Given the description of an element on the screen output the (x, y) to click on. 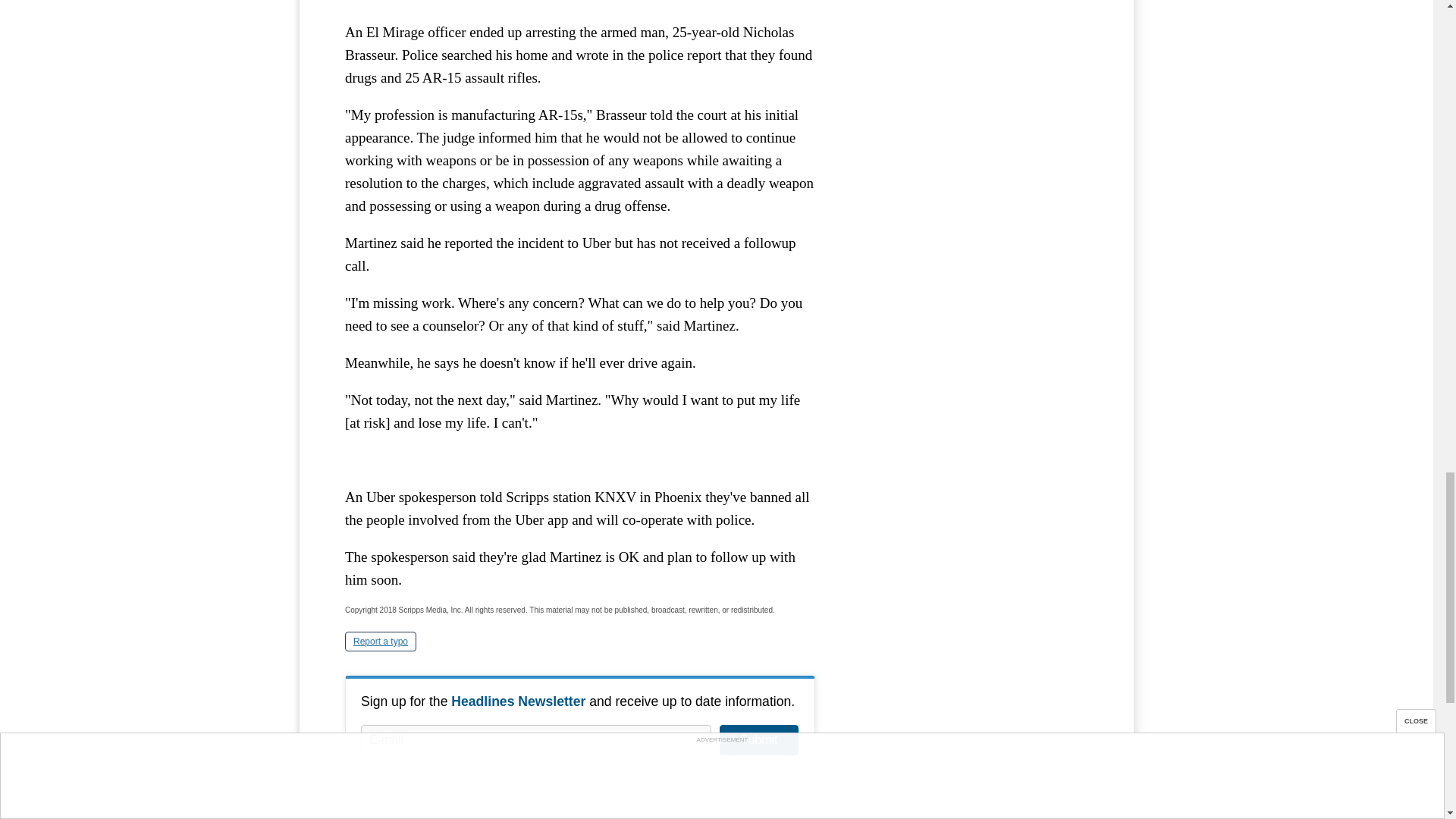
Submit (758, 739)
